Given the description of an element on the screen output the (x, y) to click on. 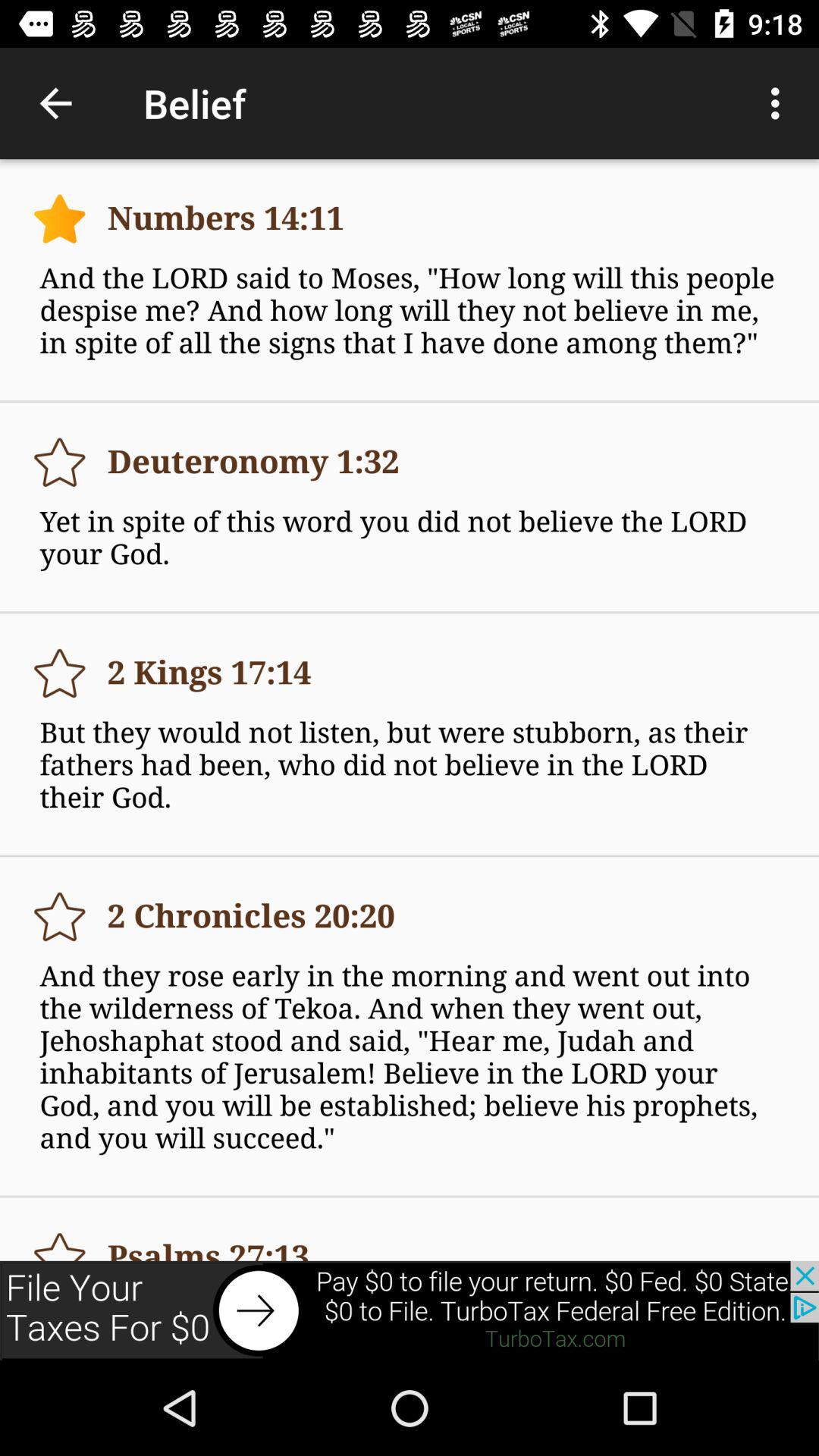
click on the first star symbol from top (59, 219)
select the 3rd star icon on the top left side of the web page (59, 673)
select the 2nd star icon on the top left side of the web page (59, 462)
